Given the description of an element on the screen output the (x, y) to click on. 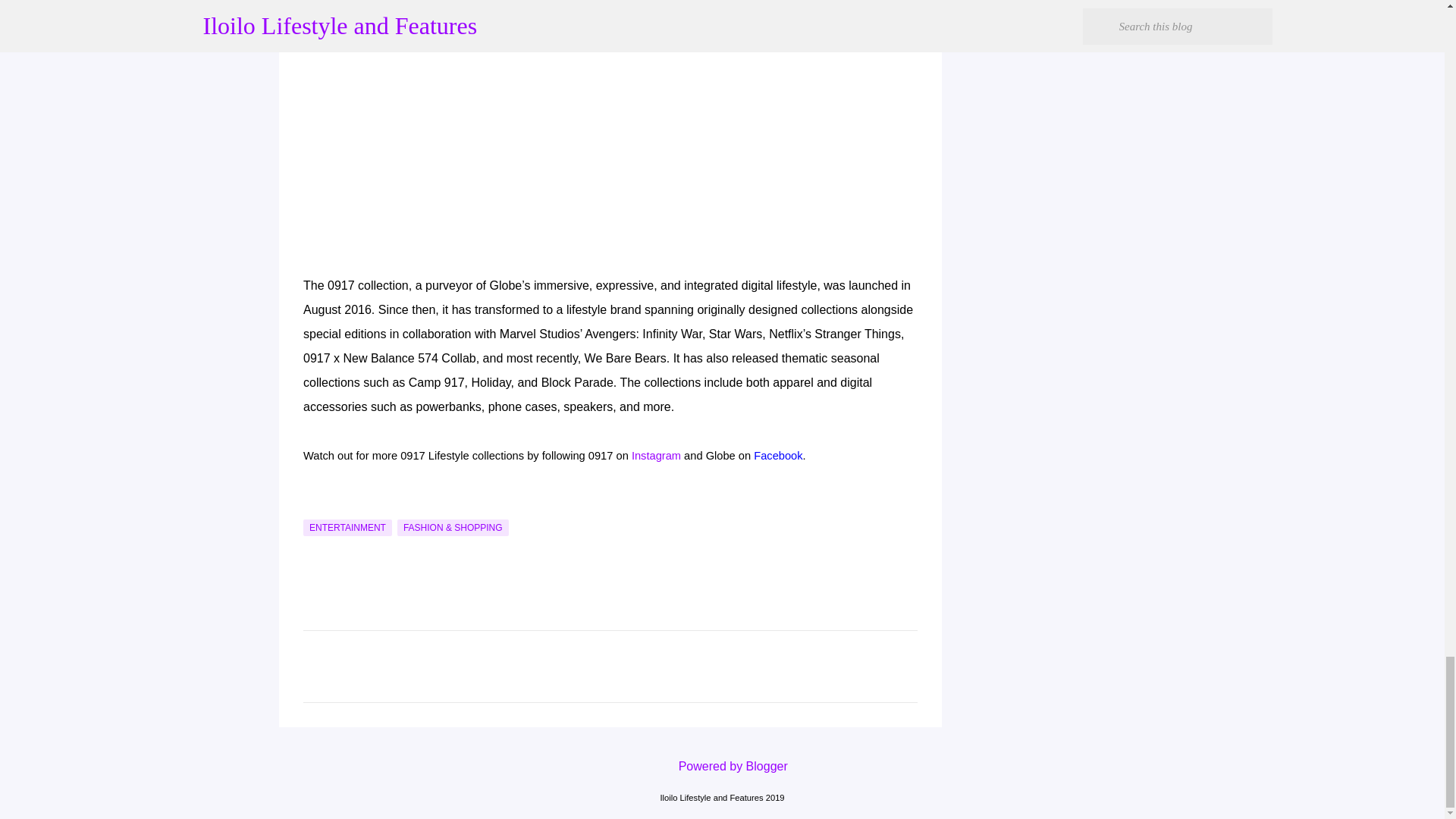
Facebook (778, 455)
ENTERTAINMENT (346, 527)
Powered by Blogger (721, 766)
Instagram (656, 455)
